Given the description of an element on the screen output the (x, y) to click on. 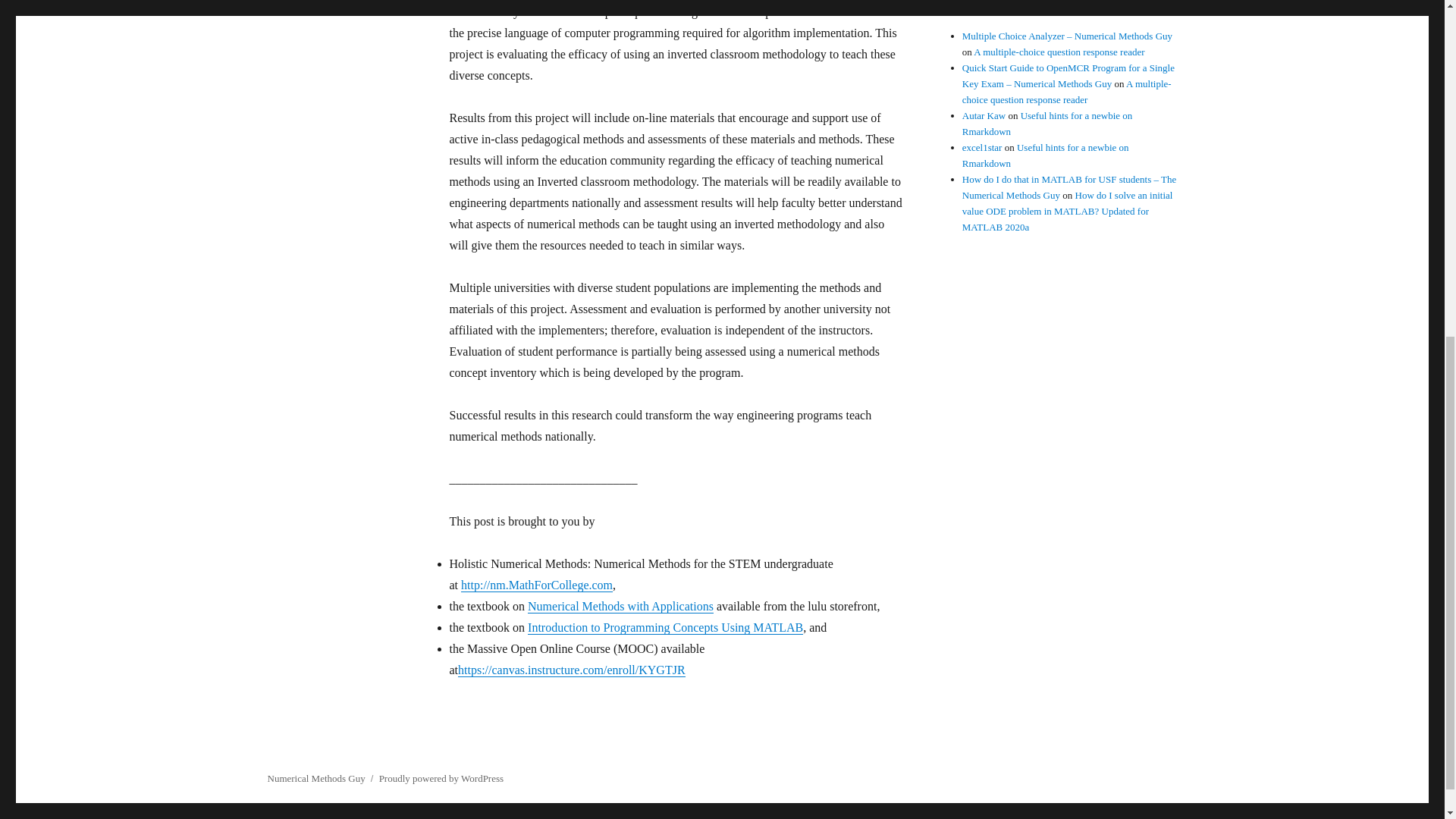
excel1star (982, 147)
Proudly powered by WordPress (440, 778)
Introduction to Programming Concepts Using MATLAB (665, 626)
Numerical Methods Guy (315, 778)
A multiple-choice question response reader (1059, 51)
Numerical Methods with Applications (620, 605)
A multiple-choice question response reader (1067, 91)
Autar Kaw (984, 115)
Useful hints for a newbie on Rmarkdown (1045, 154)
Useful hints for a newbie on Rmarkdown (1047, 123)
